Given the description of an element on the screen output the (x, y) to click on. 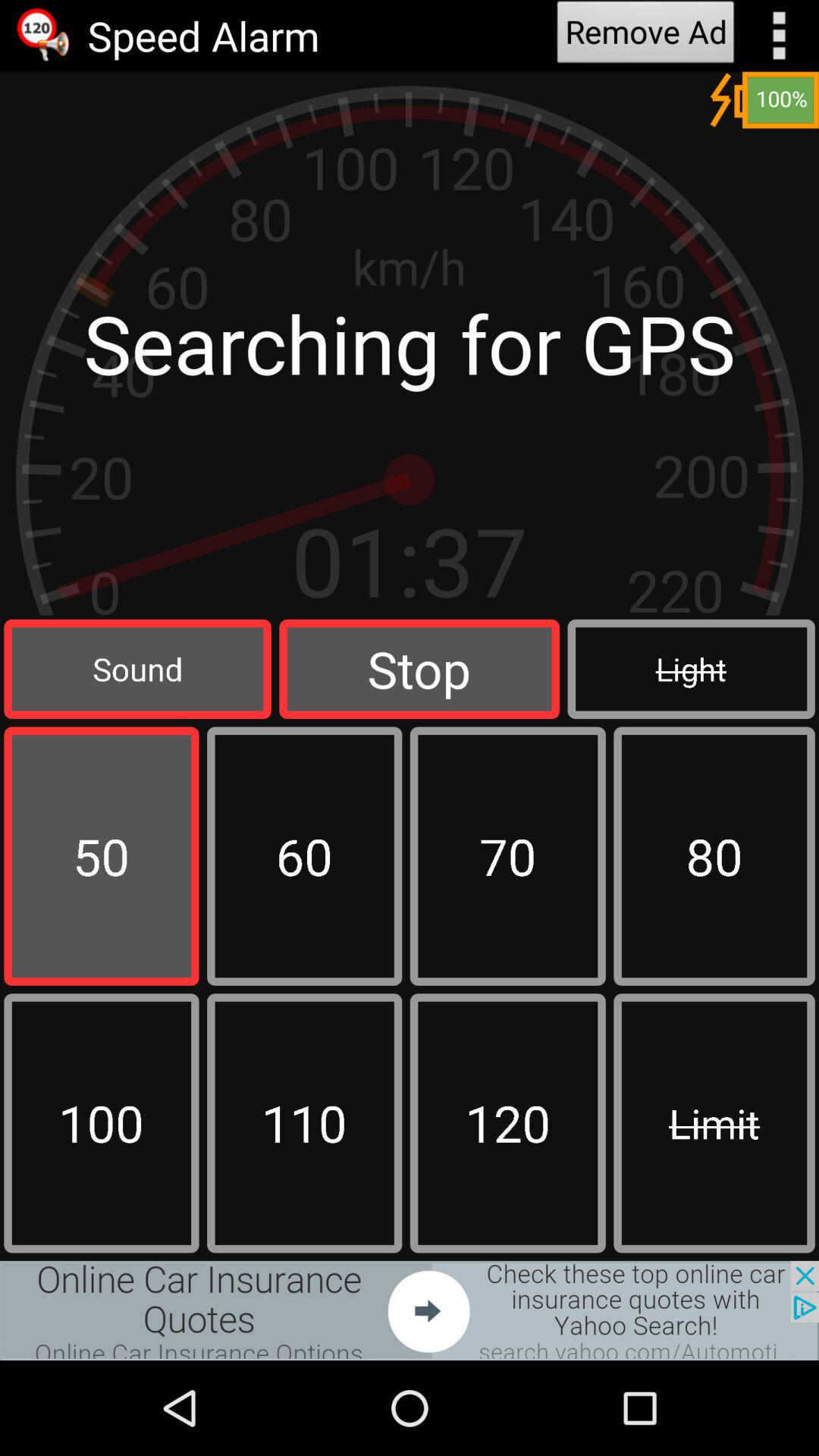
open the side menu (779, 35)
